Given the description of an element on the screen output the (x, y) to click on. 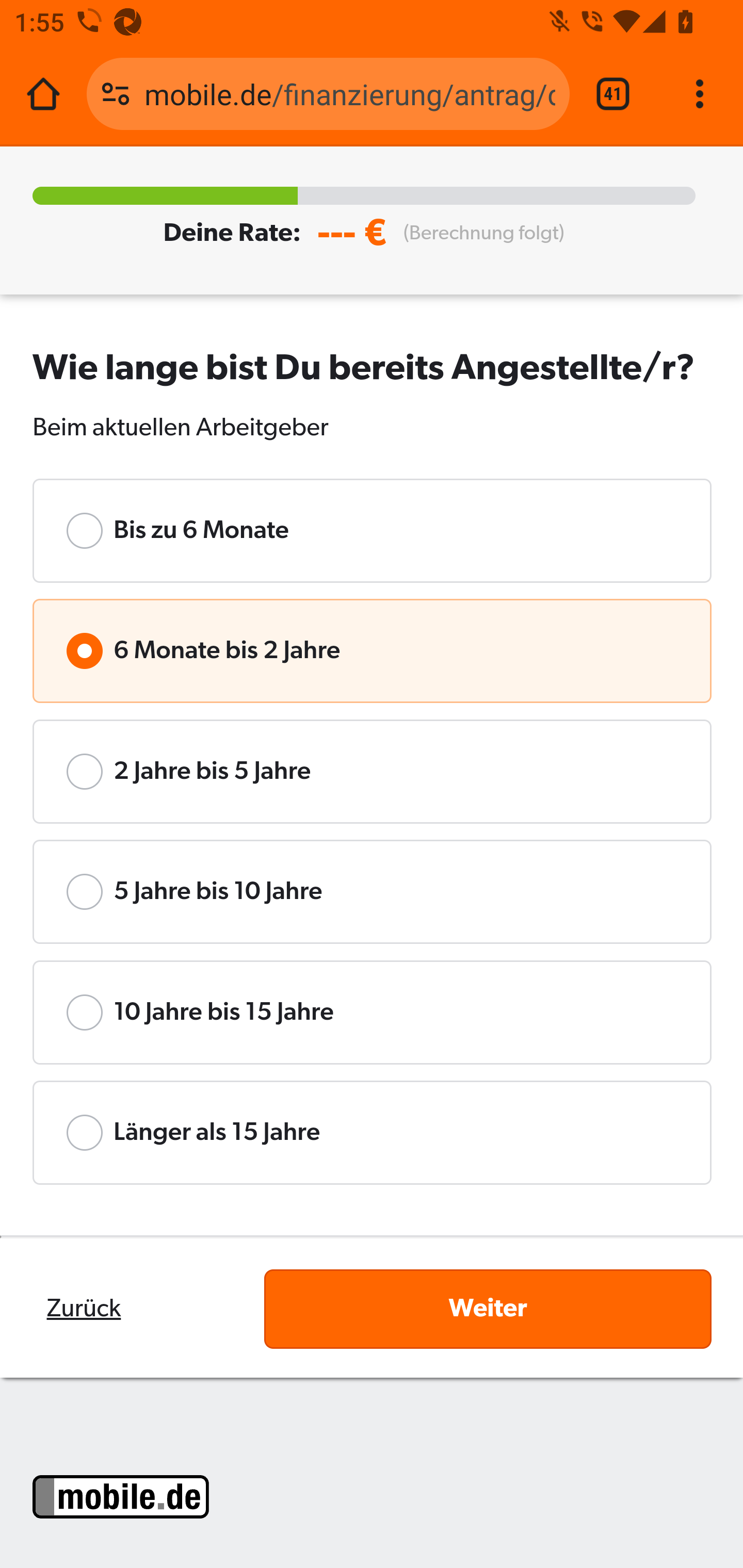
Open the home page (43, 93)
Connection is secure (115, 93)
Switch or close tabs (612, 93)
Customize and control Google Chrome (699, 93)
Weiter (488, 1308)
Zurück (83, 1308)
